Given the description of an element on the screen output the (x, y) to click on. 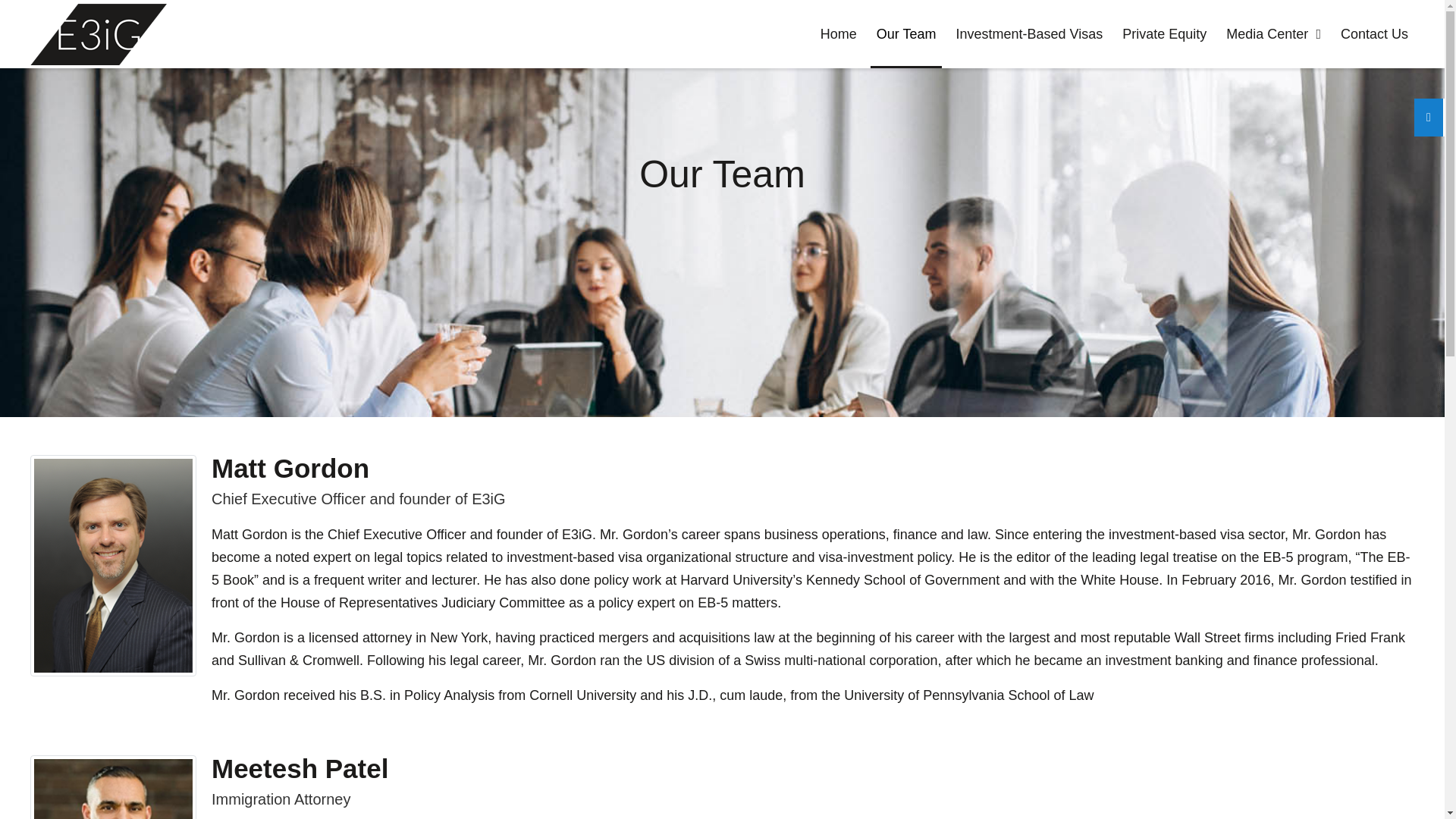
Contact Us (1374, 33)
Private Equity (1164, 33)
Our Team (906, 33)
Investment-Based Visas (1028, 33)
Media Center (1273, 33)
